Given the description of an element on the screen output the (x, y) to click on. 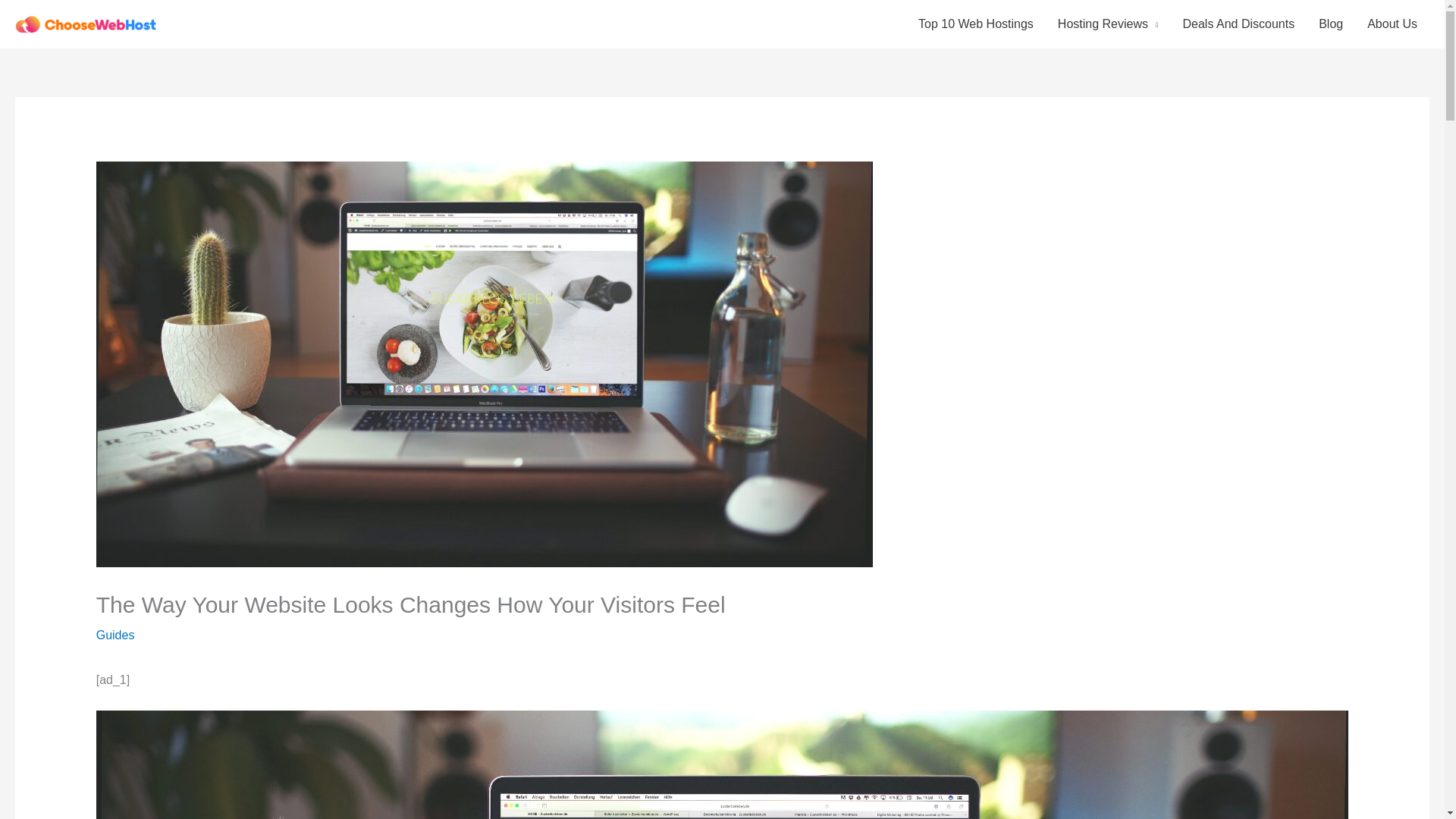
Hosting Reviews (1107, 24)
Blog (1330, 24)
Top 10 Web Hostings (975, 24)
Deals And Discounts (1238, 24)
Guides (115, 634)
About Us (1392, 24)
